Given the description of an element on the screen output the (x, y) to click on. 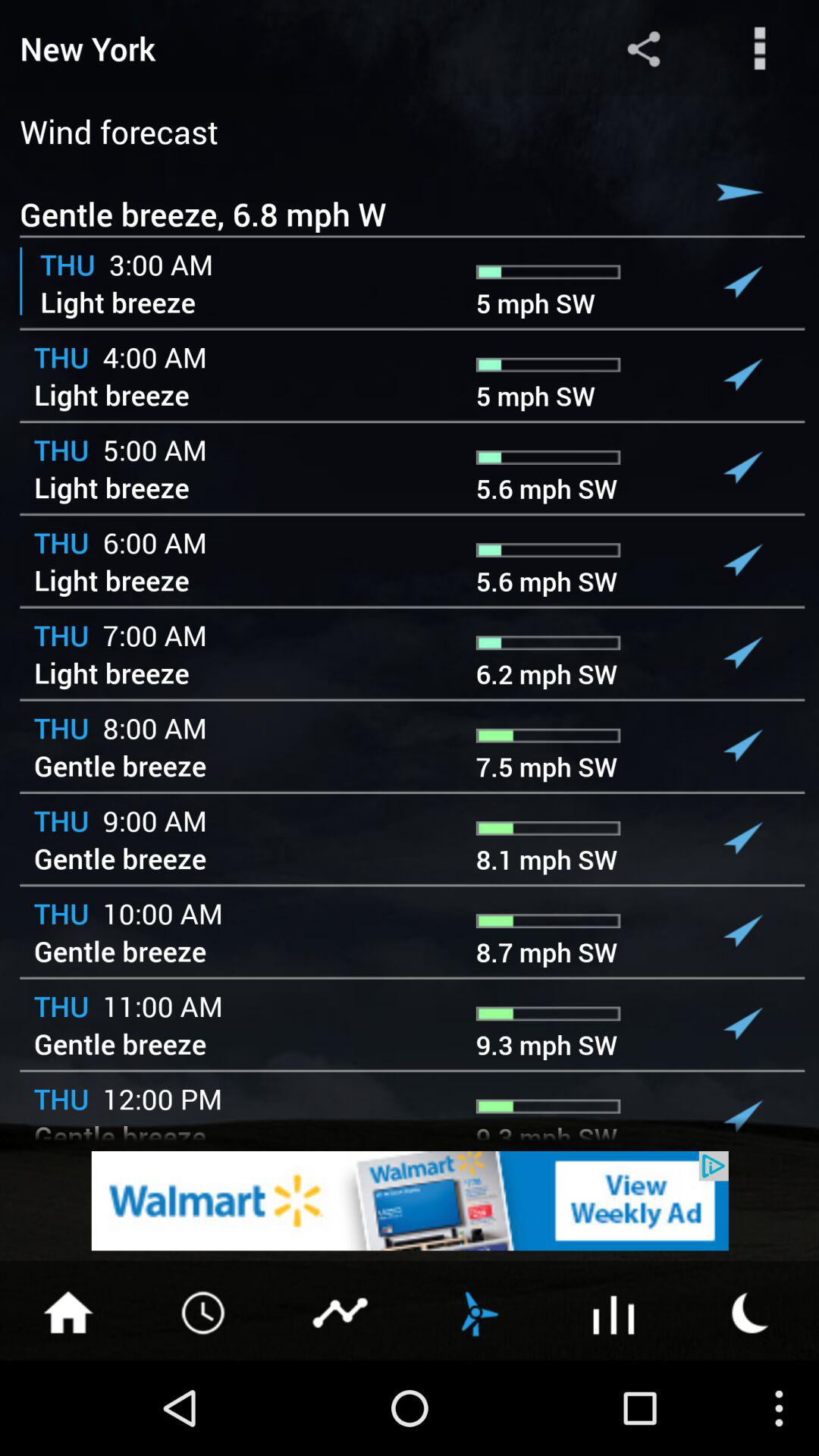
shows half moon symbol (750, 1311)
